Given the description of an element on the screen output the (x, y) to click on. 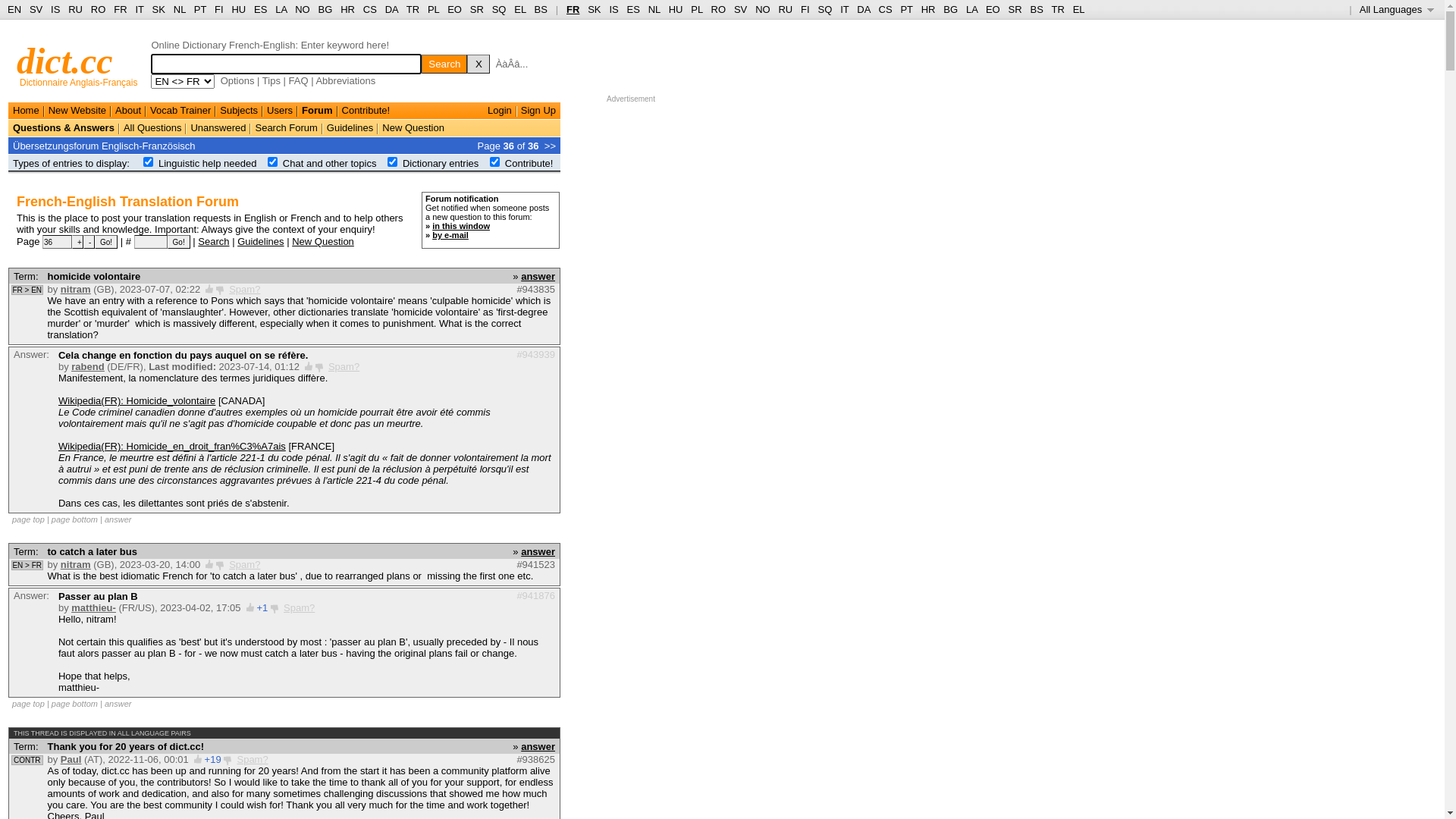
DA Element type: text (391, 9)
Spam? Element type: text (343, 366)
Sign Up Element type: text (537, 110)
Abbreviations Element type: text (345, 80)
page top Element type: text (28, 703)
HU Element type: text (238, 9)
on Element type: text (494, 161)
FI Element type: text (218, 9)
SV Element type: text (740, 9)
Search Forum Element type: text (285, 127)
Contribute! Element type: text (529, 163)
Dictionary entries Element type: text (440, 163)
EN > FR Element type: text (26, 565)
SK Element type: text (158, 9)
French-English Translation Forum Element type: text (127, 201)
#938625 Element type: text (535, 759)
SQ Element type: text (824, 9)
RO Element type: text (98, 9)
All Questions Element type: text (152, 127)
Contribute! Element type: text (366, 110)
ES Element type: text (260, 9)
TR Element type: text (1057, 9)
NO Element type: text (762, 9)
Users Element type: text (279, 110)
FR Element type: text (572, 9)
Subjects Element type: text (238, 110)
Go! Element type: text (105, 241)
NL Element type: text (179, 9)
X Element type: text (478, 63)
page bottom Element type: text (74, 519)
Home Element type: text (25, 110)
answer Element type: text (537, 275)
Login Element type: text (499, 110)
EL Element type: text (1079, 9)
#943939 Element type: text (535, 354)
dict.cc Element type: text (64, 60)
Spam? Element type: text (244, 564)
on Element type: text (148, 161)
SK Element type: text (593, 9)
Options Element type: text (237, 80)
SR Element type: text (476, 9)
SV Element type: text (35, 9)
answer Element type: text (537, 745)
answer Element type: text (537, 551)
CONTR Element type: text (26, 760)
CS Element type: text (884, 9)
IT Element type: text (844, 9)
Wikipedia(FR): Homicide_volontaire Element type: text (136, 400)
rabend Element type: text (87, 366)
IT Element type: text (138, 9)
BG Element type: text (325, 9)
matthieu- Element type: text (93, 607)
#941876 Element type: text (535, 595)
Linguistic help needed Element type: text (207, 163)
#941523 Element type: text (535, 564)
Guidelines Element type: text (260, 240)
page bottom Element type: text (74, 703)
PT Element type: text (906, 9)
RU Element type: text (785, 9)
FR > EN Element type: text (26, 289)
IS Element type: text (54, 9)
Paul Element type: text (70, 759)
Wikipedia(FR): Homicide_en_droit_fran%C3%A7ais Element type: text (171, 445)
Search Element type: text (213, 240)
+19 Element type: text (212, 759)
PL Element type: text (433, 9)
Spam? Element type: text (298, 607)
CS Element type: text (369, 9)
NO Element type: text (302, 9)
BS Element type: text (540, 9)
Spam? Element type: text (244, 288)
EL Element type: text (519, 9)
on Element type: text (272, 161)
#943835 Element type: text (535, 288)
Chat and other topics Element type: text (329, 163)
Forum Element type: text (316, 110)
answer Element type: text (117, 703)
page top Element type: text (28, 519)
TR Element type: text (412, 9)
SR Element type: text (1015, 9)
Go! Element type: text (178, 241)
RO Element type: text (718, 9)
BS Element type: text (1035, 9)
EN Element type: text (14, 9)
answer Element type: text (117, 519)
nitram Element type: text (75, 564)
FR Element type: text (119, 9)
IS Element type: text (613, 9)
PT Element type: text (200, 9)
BG Element type: text (950, 9)
>> Element type: text (549, 144)
About Element type: text (128, 110)
ES Element type: text (633, 9)
HR Element type: text (347, 9)
SQ Element type: text (499, 9)
EO Element type: text (454, 9)
Spam? Element type: text (251, 759)
nitram Element type: text (75, 288)
New Question Element type: text (322, 240)
LA Element type: text (971, 9)
Unanswered Element type: text (217, 127)
Search Element type: text (444, 63)
New Website Element type: text (77, 110)
NL Element type: text (654, 9)
FI Element type: text (804, 9)
Vocab Trainer Element type: text (180, 110)
Questions & Answers Element type: text (63, 127)
EO Element type: text (992, 9)
Guidelines Element type: text (349, 127)
HU Element type: text (675, 9)
RU Element type: text (75, 9)
DA Element type: text (862, 9)
on Element type: text (392, 161)
HR Element type: text (928, 9)
PL Element type: text (696, 9)
Tips Element type: text (271, 80)
LA Element type: text (280, 9)
FAQ Element type: text (298, 80)
+1 Element type: text (261, 607)
New Question Element type: text (413, 127)
All Languages  Element type: text (1396, 9)
